Given the description of an element on the screen output the (x, y) to click on. 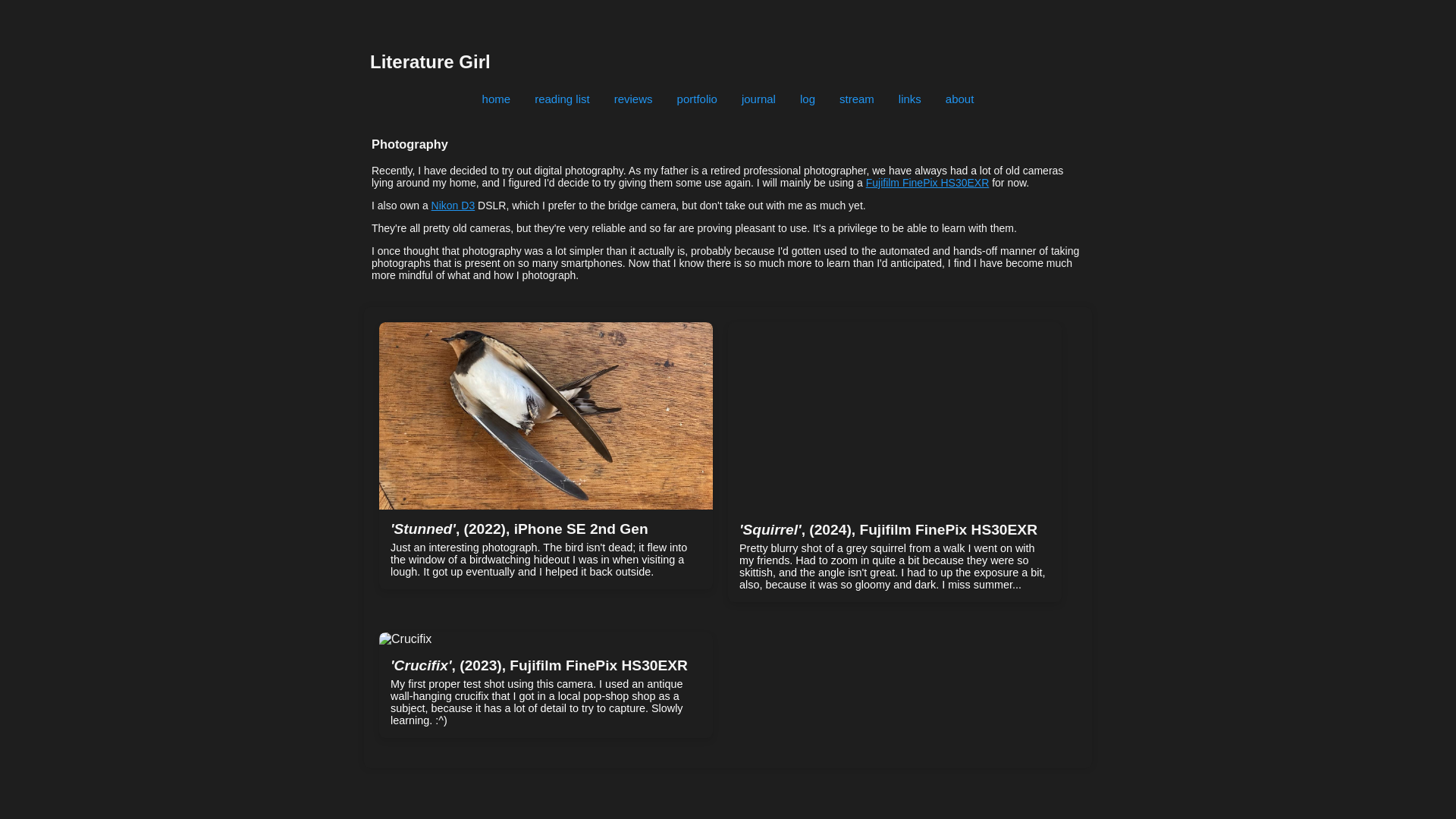
reading list (562, 98)
home (496, 98)
Nikon D3 (453, 205)
reviews (633, 98)
